Given the description of an element on the screen output the (x, y) to click on. 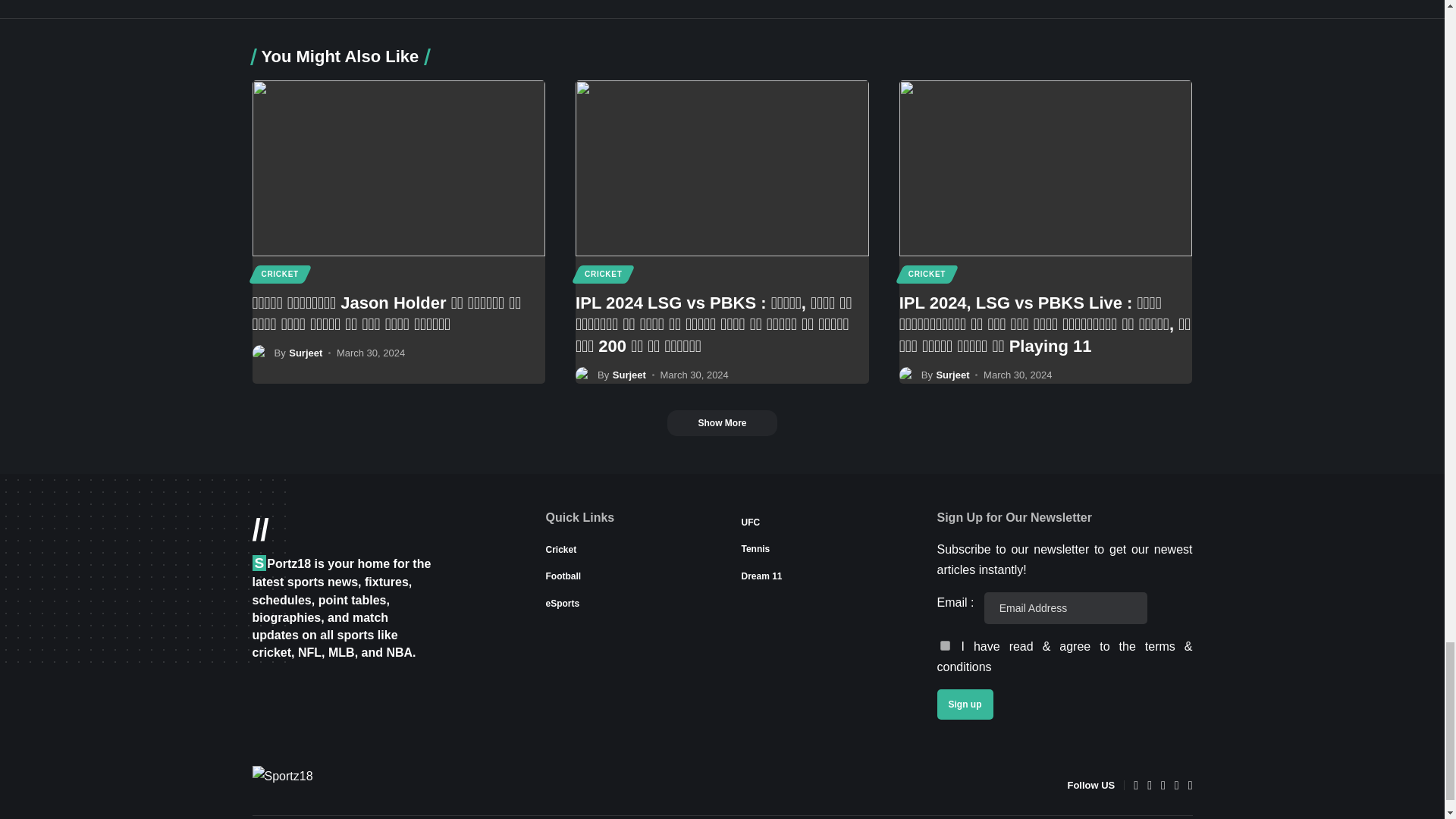
1 (945, 645)
Sportz18 (327, 784)
Sign up (964, 704)
